Given the description of an element on the screen output the (x, y) to click on. 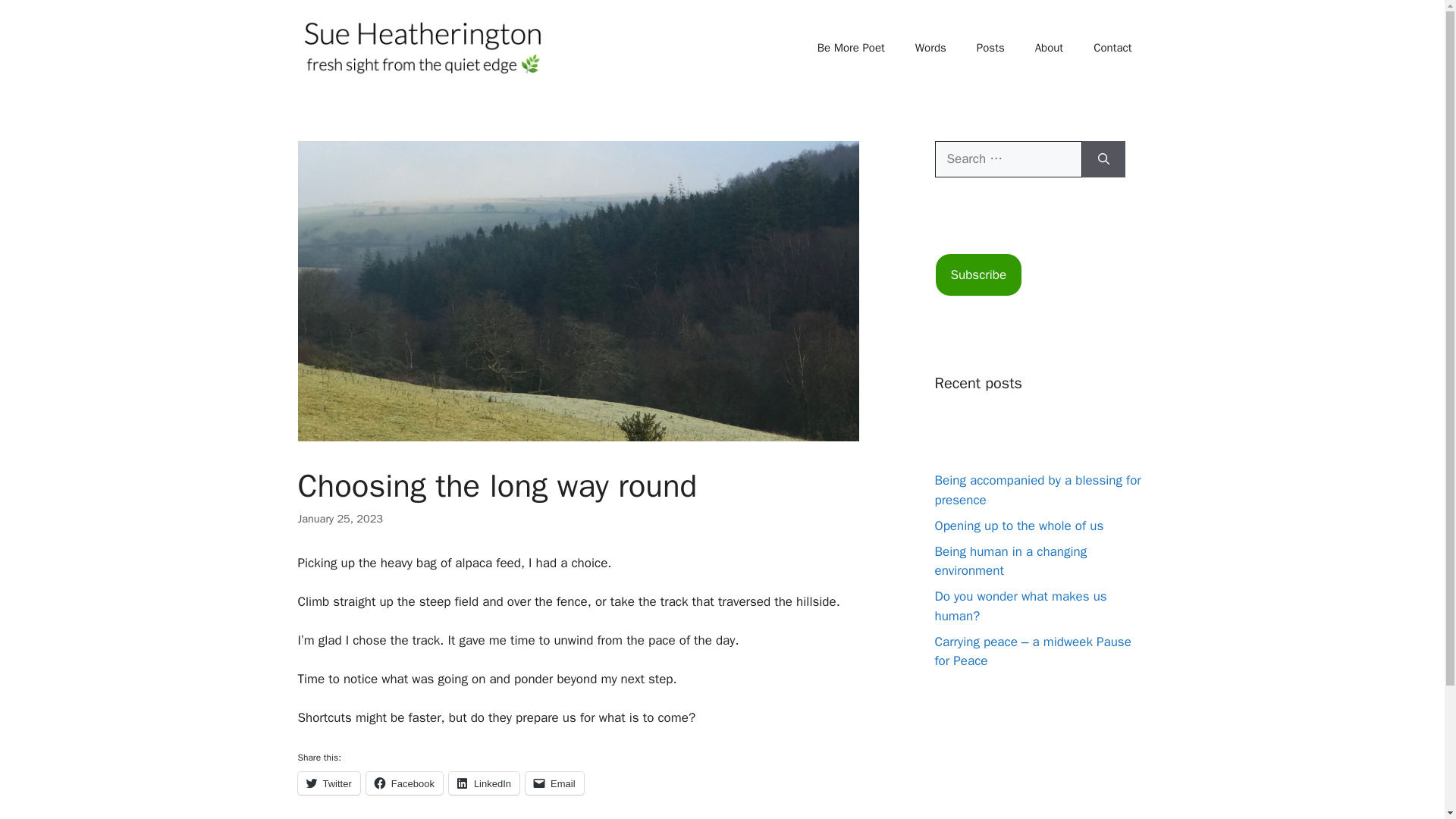
Being human in a changing environment (1010, 561)
Posts (990, 47)
Opening up to the whole of us (1018, 525)
Words (929, 47)
Click to share on LinkedIn (483, 783)
Be More Poet (850, 47)
About (1049, 47)
Email (554, 783)
Do you wonder what makes us human? (1020, 606)
LinkedIn (483, 783)
